Given the description of an element on the screen output the (x, y) to click on. 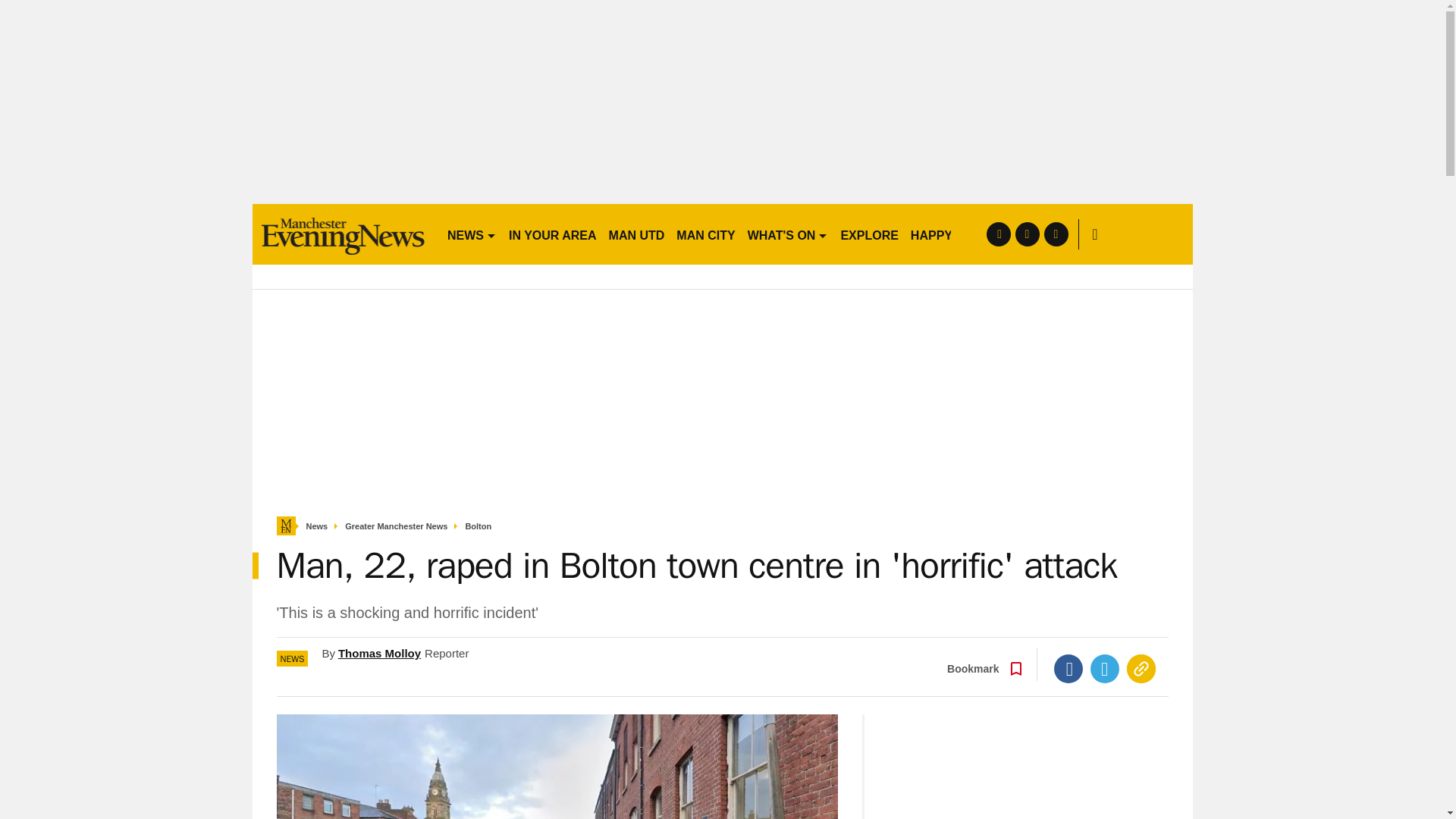
men (342, 233)
Facebook (1068, 668)
MAN CITY (705, 233)
facebook (997, 233)
NEWS (471, 233)
IN YOUR AREA (552, 233)
Twitter (1104, 668)
twitter (1026, 233)
WHAT'S ON (787, 233)
instagram (1055, 233)
MAN UTD (636, 233)
